Given the description of an element on the screen output the (x, y) to click on. 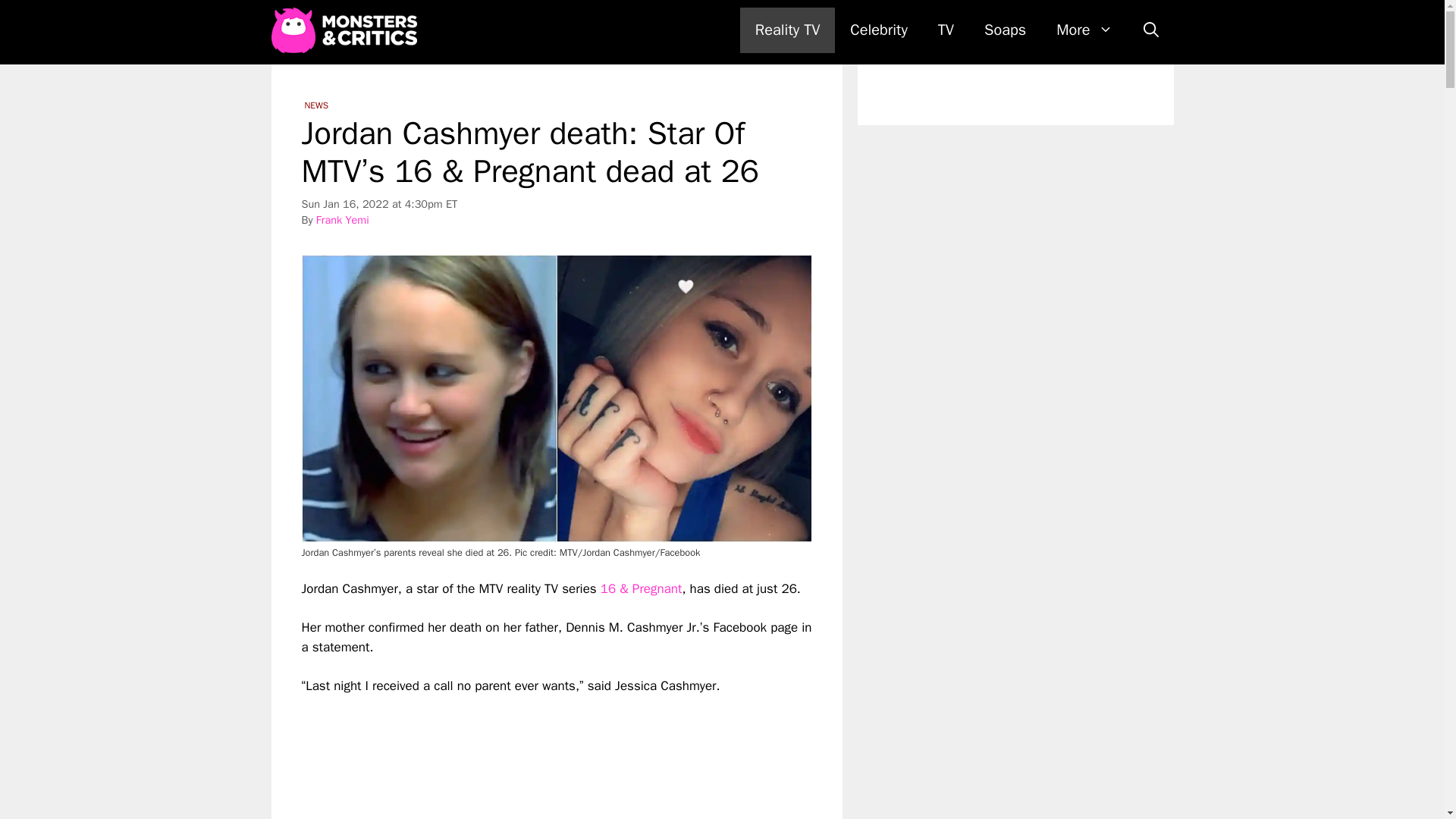
View all posts by Frank Yemi (342, 219)
YouTube video player (513, 757)
Monsters and Critics (343, 30)
More (1083, 30)
Frank Yemi (342, 219)
Monsters and Critics (347, 30)
Soaps (1005, 30)
Reality TV (787, 30)
Celebrity (877, 30)
TV (946, 30)
